Given the description of an element on the screen output the (x, y) to click on. 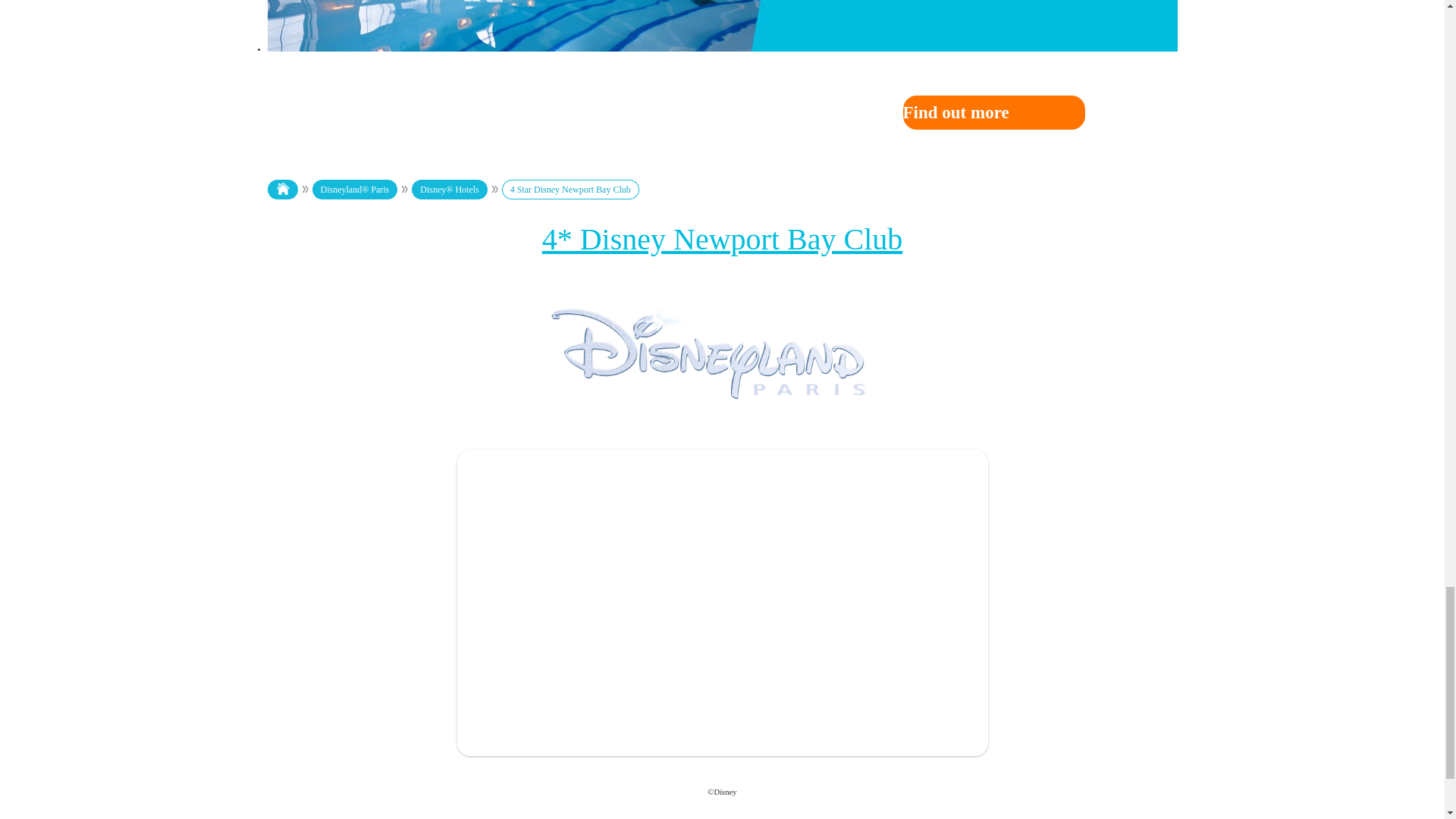
Current Page (579, 189)
Fantastic hotel facilities (721, 25)
Go to Homepage (290, 189)
